Given the description of an element on the screen output the (x, y) to click on. 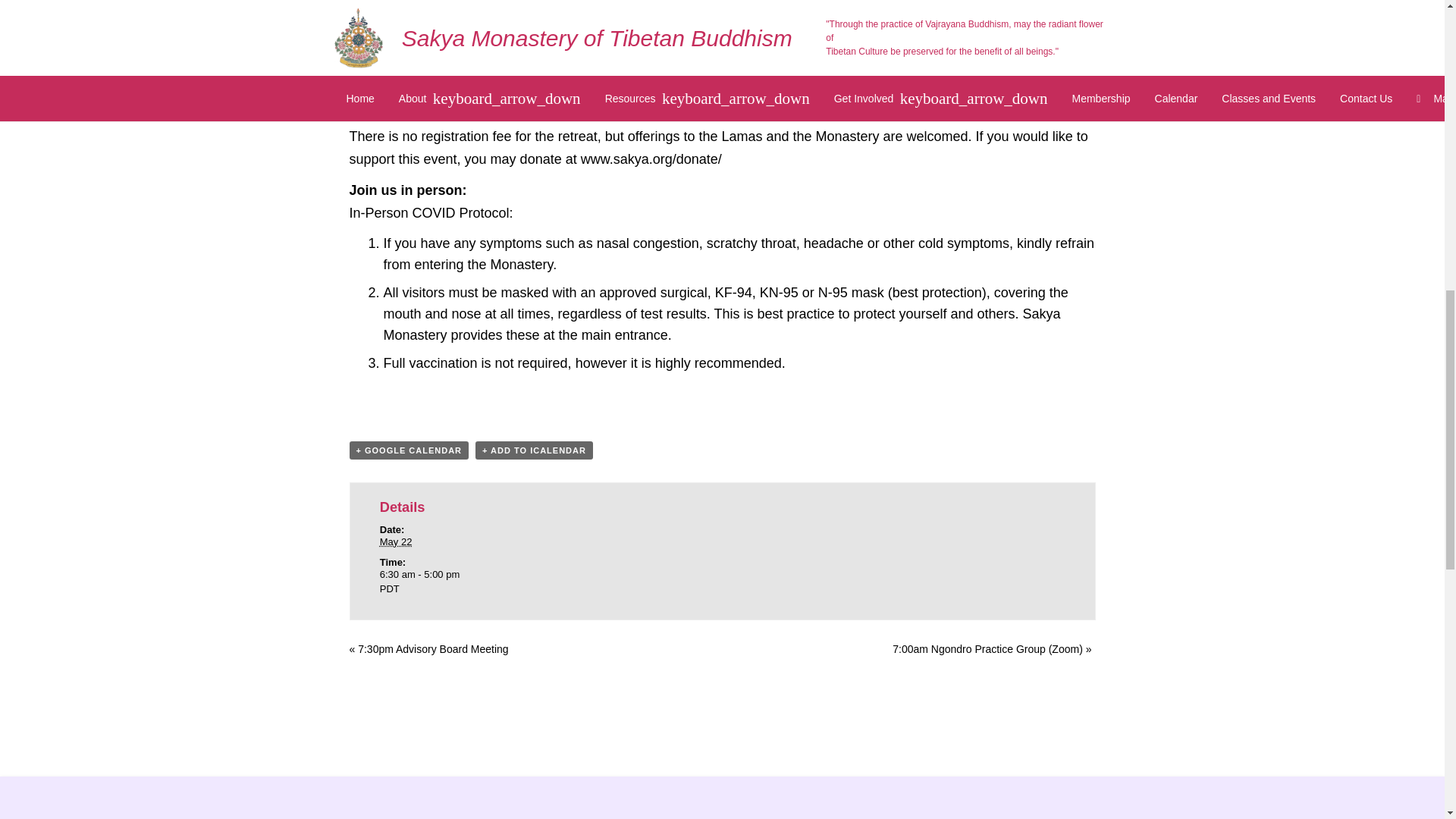
2024-05-22 (474, 582)
Download .ics file (534, 450)
2024-05-22 (396, 541)
Add to Google Calendar (408, 450)
Back to top (1413, 37)
